Given the description of an element on the screen output the (x, y) to click on. 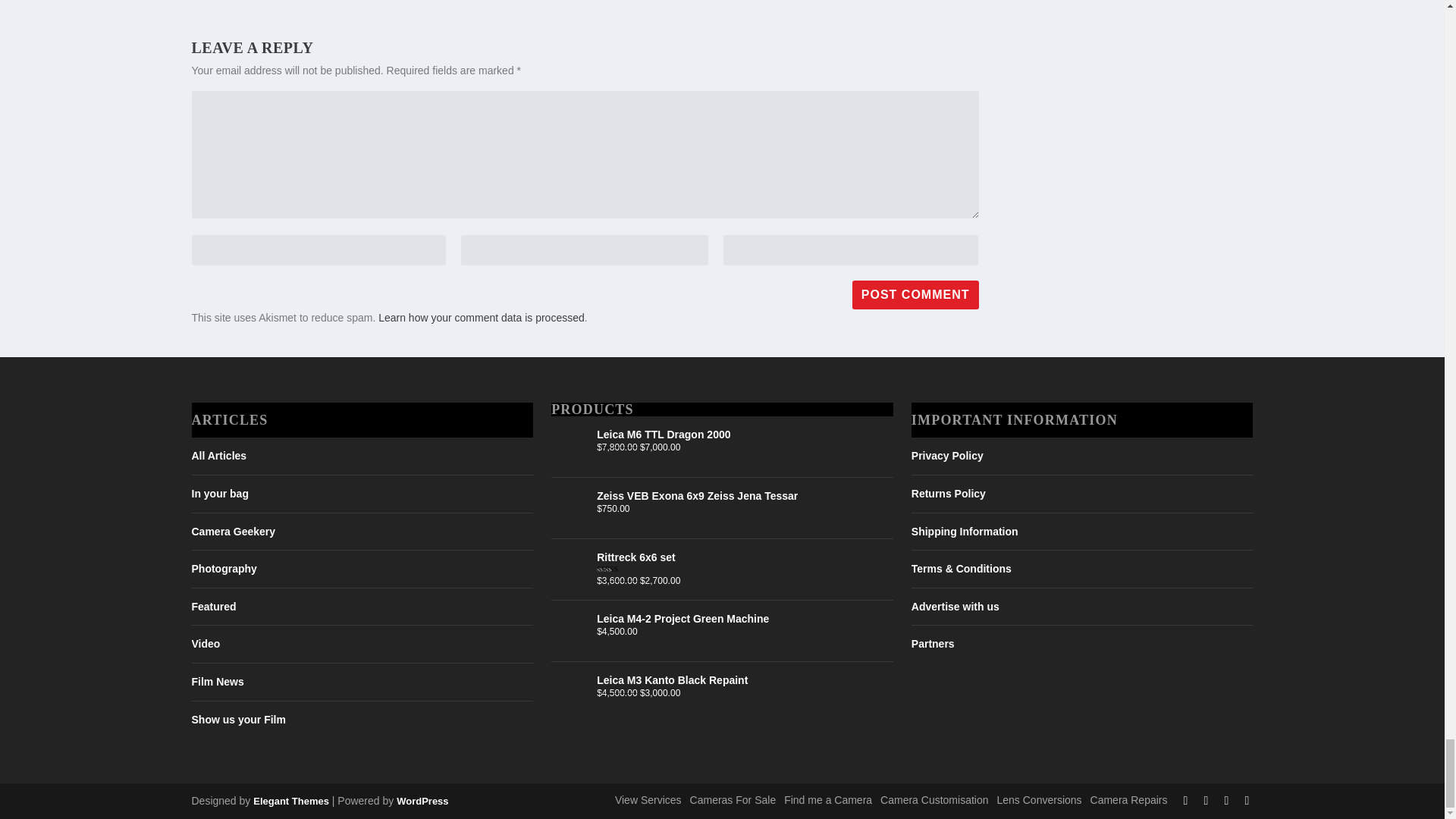
Post Comment (914, 294)
